Given the description of an element on the screen output the (x, y) to click on. 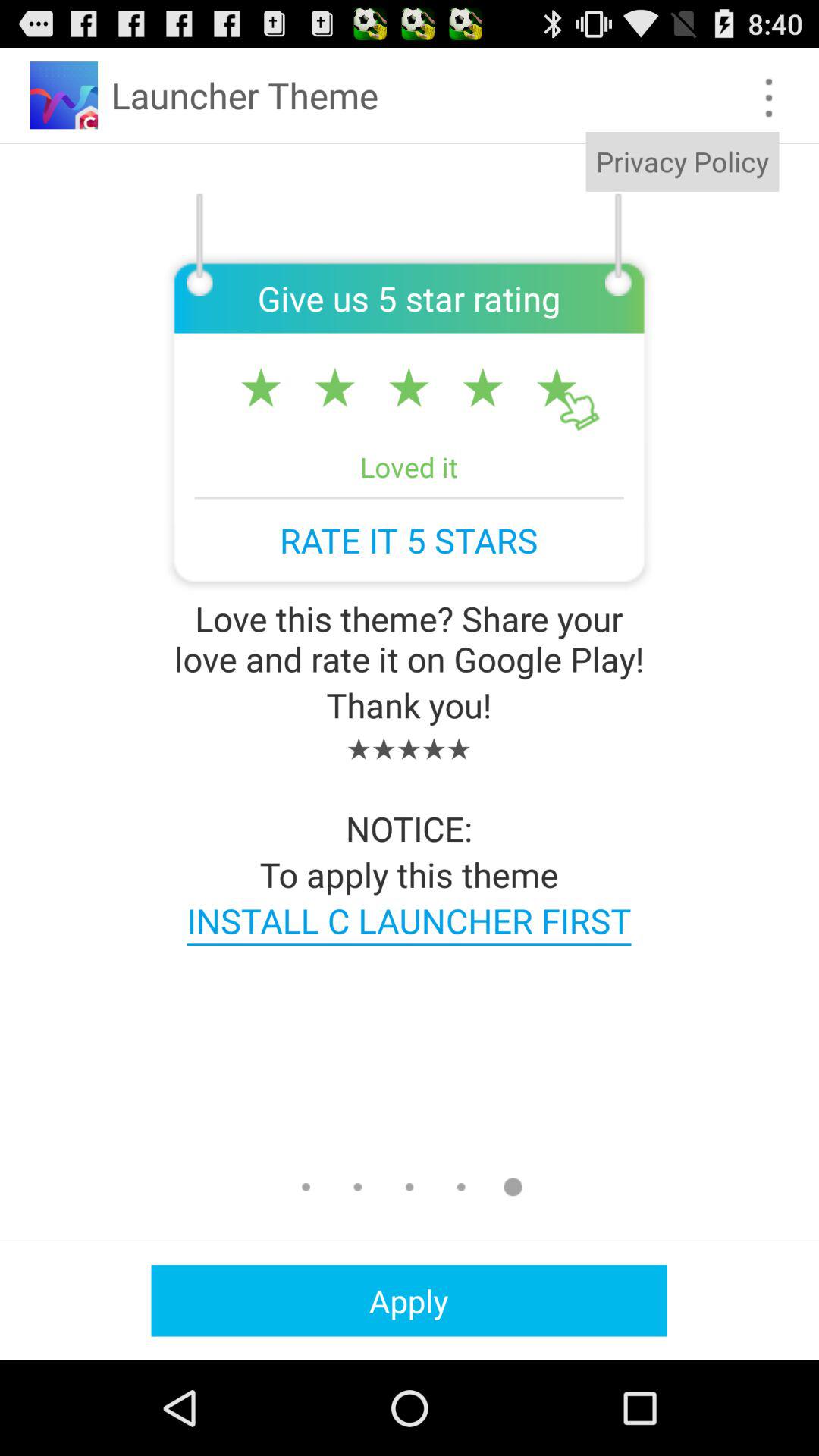
press icon to the right of launcher theme app (682, 161)
